Given the description of an element on the screen output the (x, y) to click on. 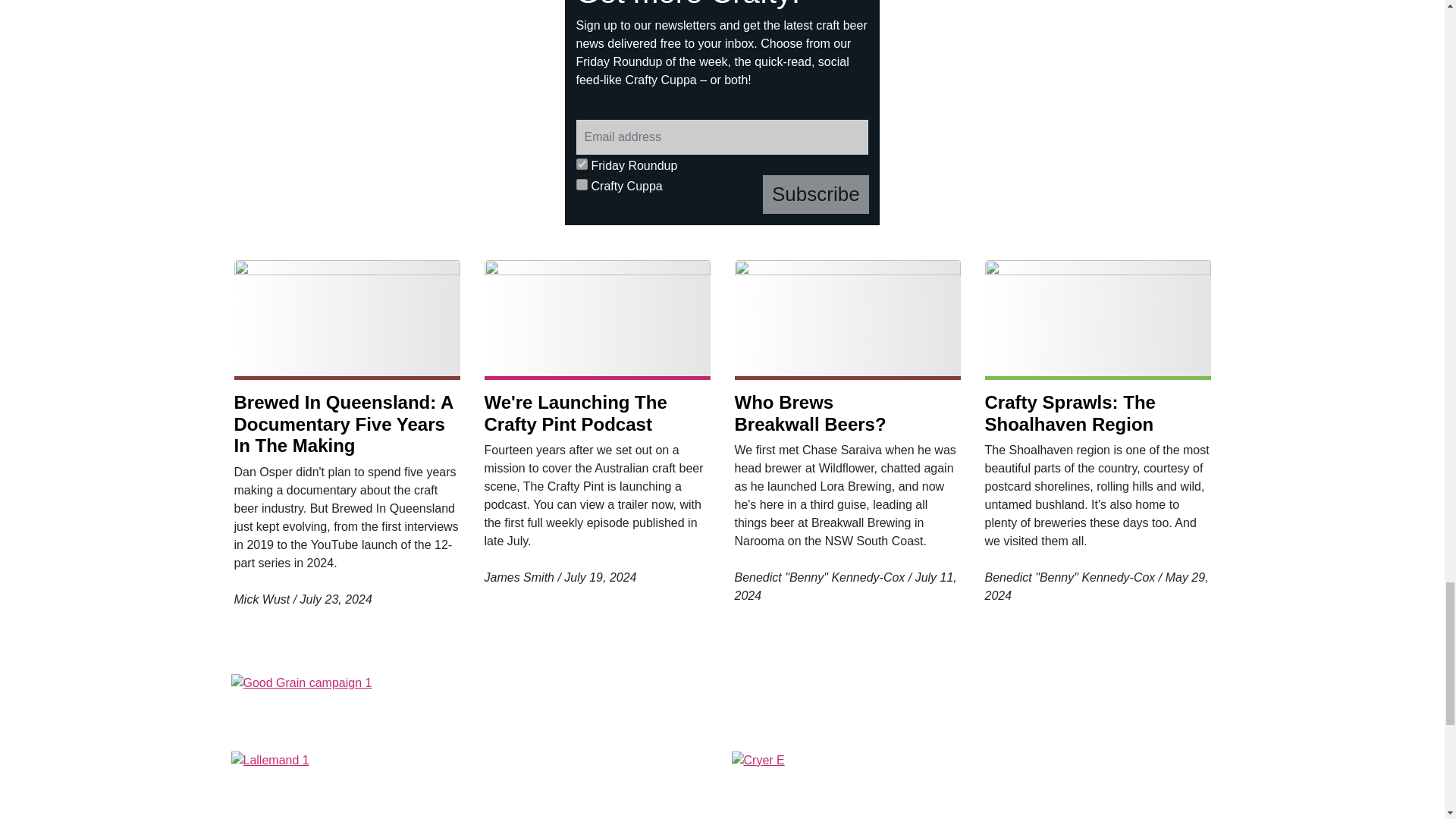
Gypsy Hub (1055, 112)
Good Grain campaign 1 (721, 706)
Subscribe (815, 194)
Lallemand 1 (471, 785)
Indies 2024 B (389, 99)
Cryer E (971, 785)
cuppa (582, 184)
friday (582, 163)
